Given the description of an element on the screen output the (x, y) to click on. 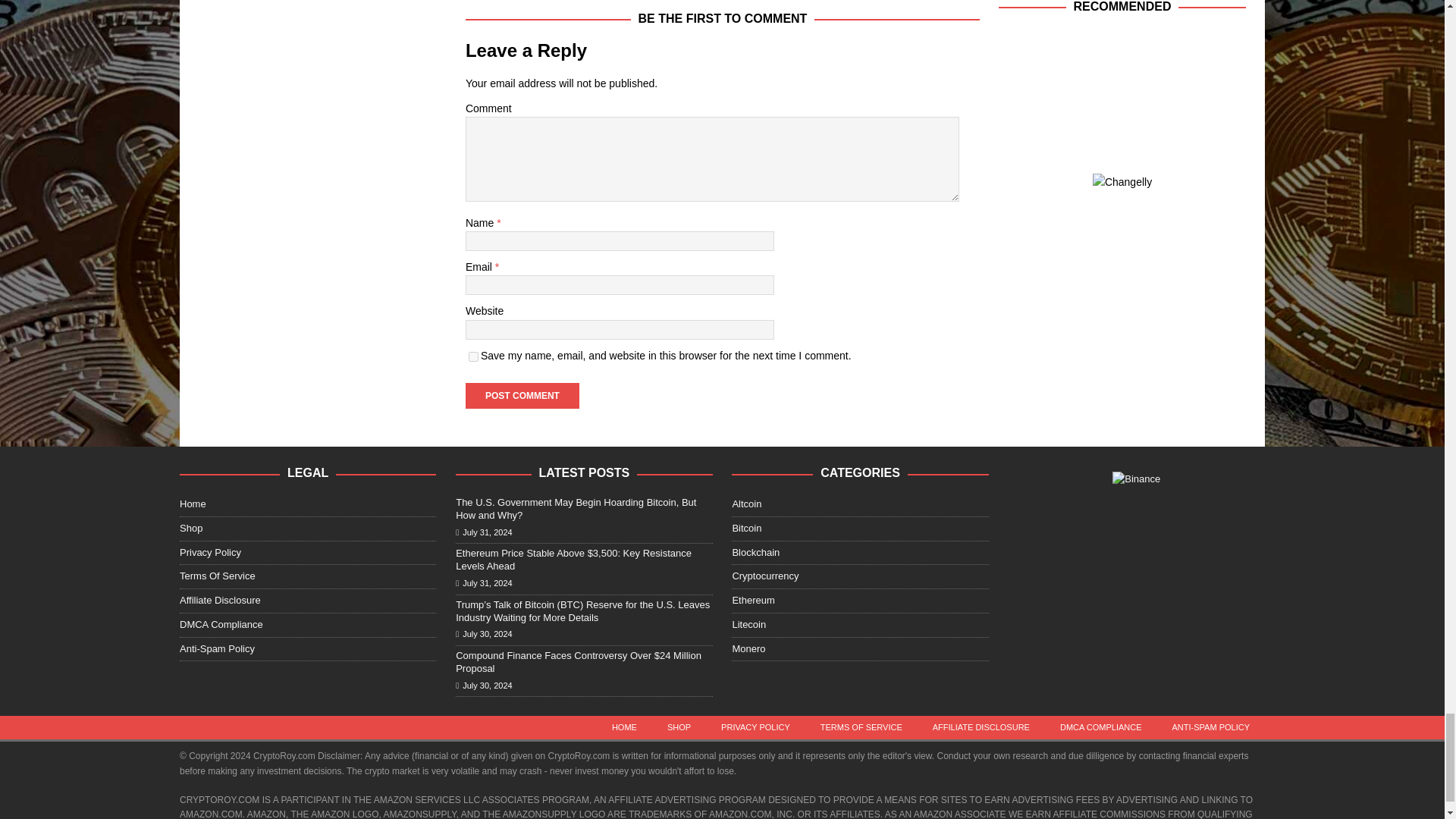
yes (473, 356)
Post Comment (522, 395)
